Given the description of an element on the screen output the (x, y) to click on. 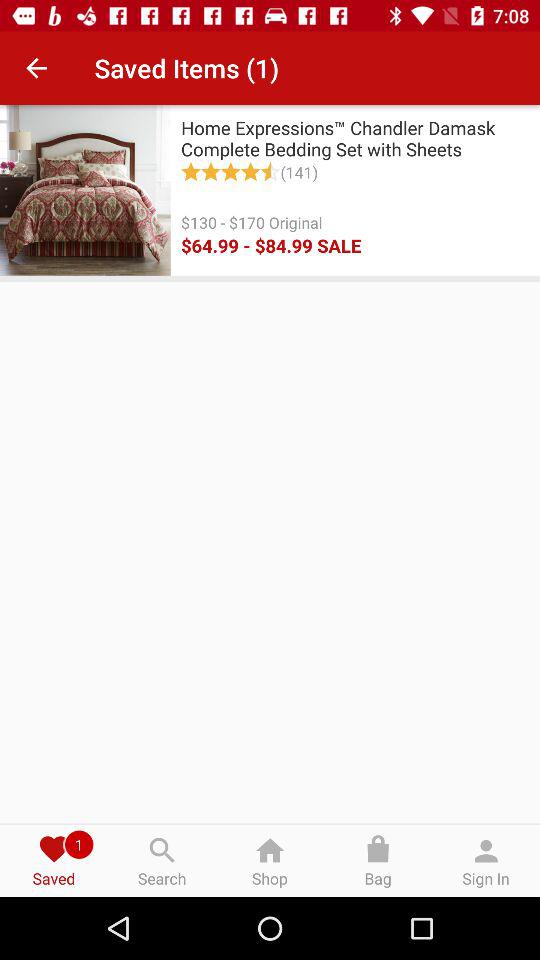
tap the icon to the left of saved items (1) item (36, 68)
